Given the description of an element on the screen output the (x, y) to click on. 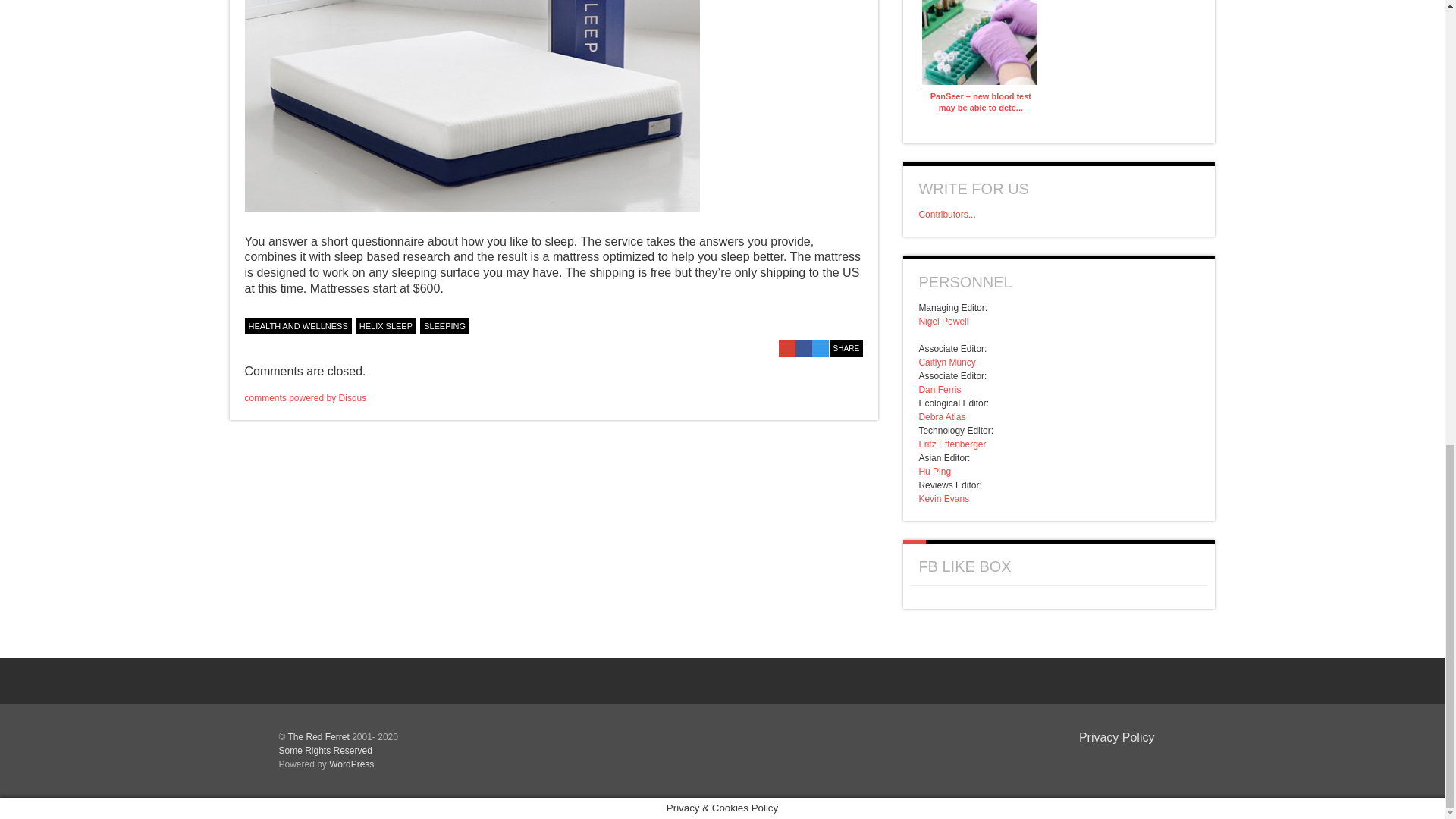
HEALTH AND WELLNESS (297, 325)
Nigel Powell (943, 321)
SLEEPING (444, 325)
Debra Atlas (941, 416)
HELIX SLEEP (385, 325)
Contributors... (946, 214)
comments powered by Disqus (305, 398)
SHARE (846, 348)
Fritz Effenberger (951, 443)
I like this article (855, 323)
Caitlyn Muncy (946, 362)
Built by Bairwell (1130, 761)
Dan Ferris (939, 389)
